Given the description of an element on the screen output the (x, y) to click on. 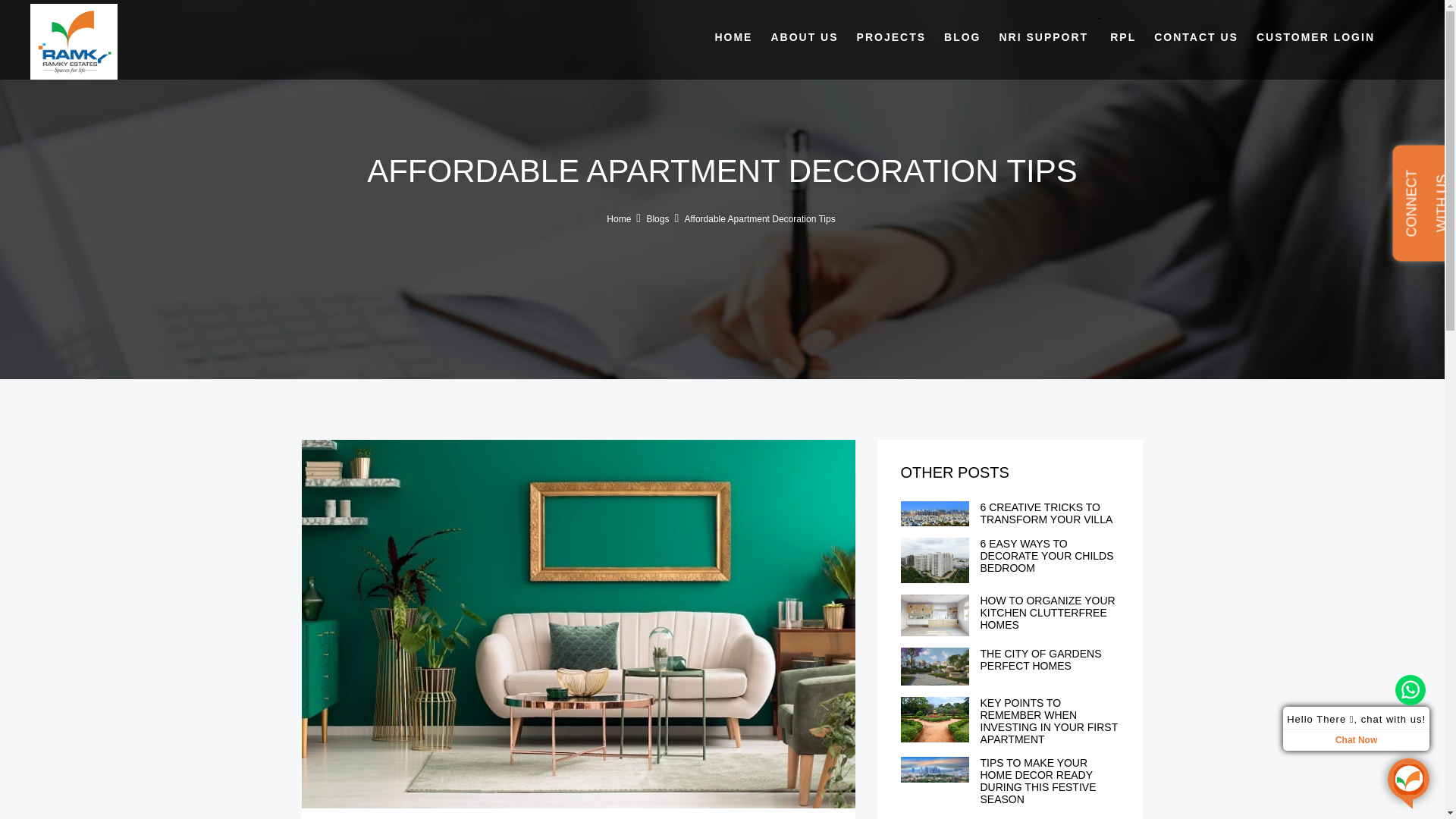
6 EASY WAYS TO DECORATE YOUR CHILDS BEDROOM (1046, 555)
CONTACT US (1195, 36)
6 CREATIVE TRICKS TO TRANSFORM YOUR VILLA (1045, 513)
ABOUT US (804, 36)
THE CITY OF GARDENS PERFECT HOMES (1039, 659)
PROJECTS (890, 36)
Blogs (657, 218)
Home (618, 218)
HOW TO ORGANIZE YOUR KITCHEN CLUTTERFREE HOMES (1047, 612)
NRI SUPPORT (1043, 36)
logo (73, 41)
CUSTOMER LOGIN (1315, 36)
